Given the description of an element on the screen output the (x, y) to click on. 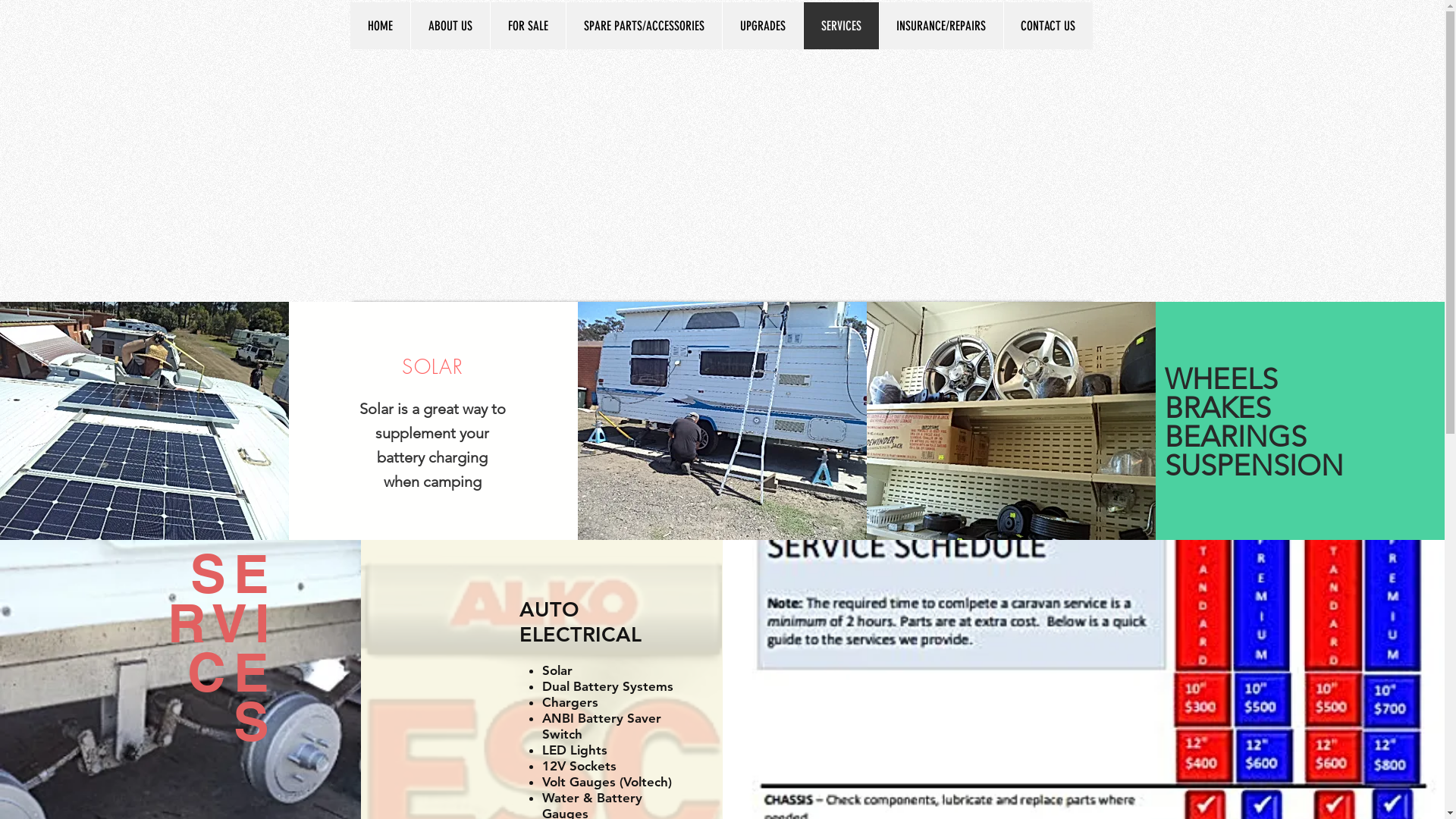
SPARE PARTS/ACCESSORIES Element type: text (643, 25)
ABOUT US Element type: text (449, 25)
UPGRADES Element type: text (762, 25)
CONTACT US Element type: text (1047, 25)
HOME Element type: text (380, 25)
FOR SALE Element type: text (527, 25)
INSURANCE/REPAIRS Element type: text (940, 25)
SERVICES Element type: text (840, 25)
